Given the description of an element on the screen output the (x, y) to click on. 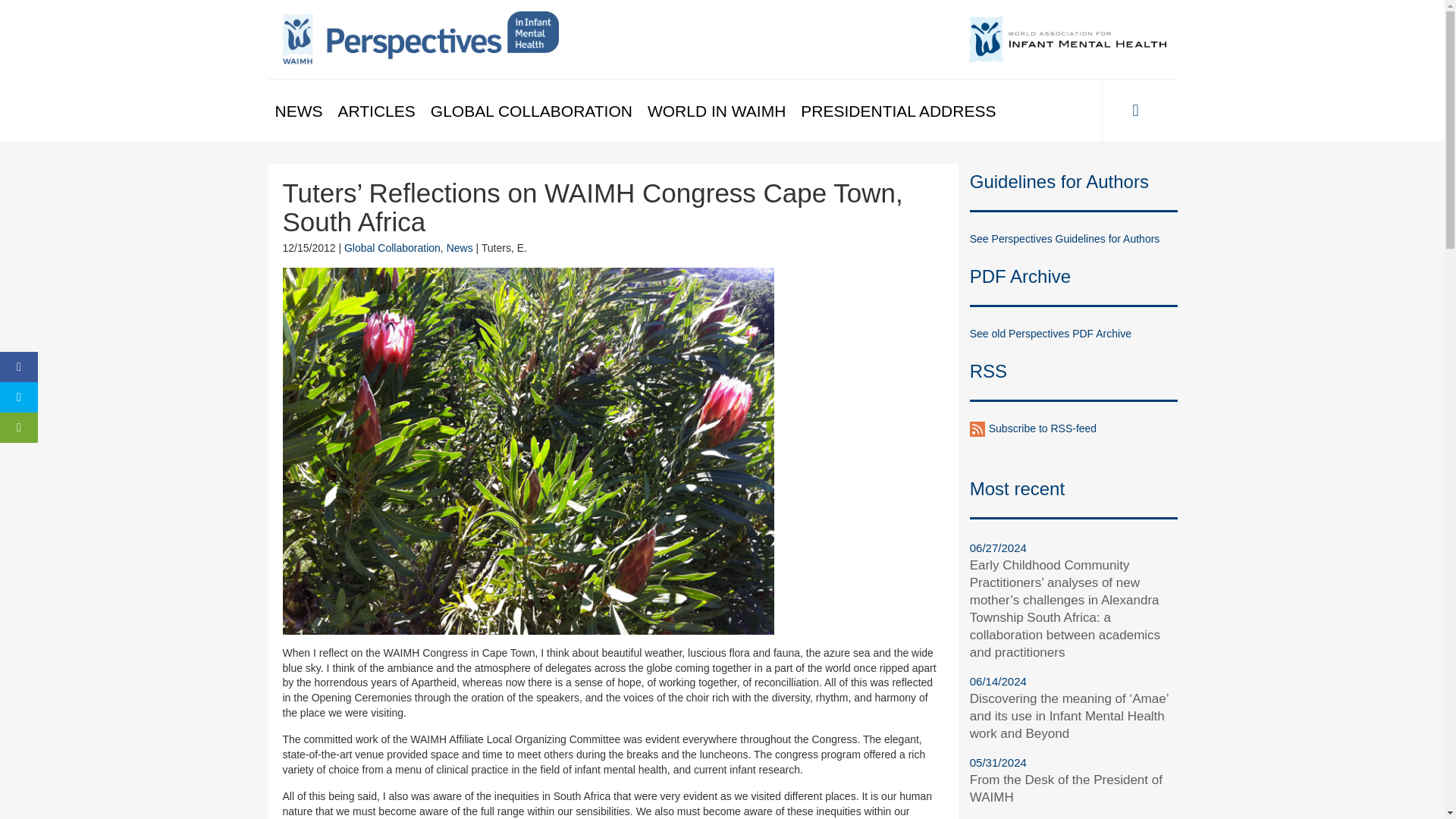
Global Collaboration (392, 247)
News (459, 247)
NEWS (298, 111)
WORLD IN WAIMH (716, 111)
ARTICLES (376, 111)
PRESIDENTIAL ADDRESS (898, 111)
GLOBAL COLLABORATION (531, 111)
